Given the description of an element on the screen output the (x, y) to click on. 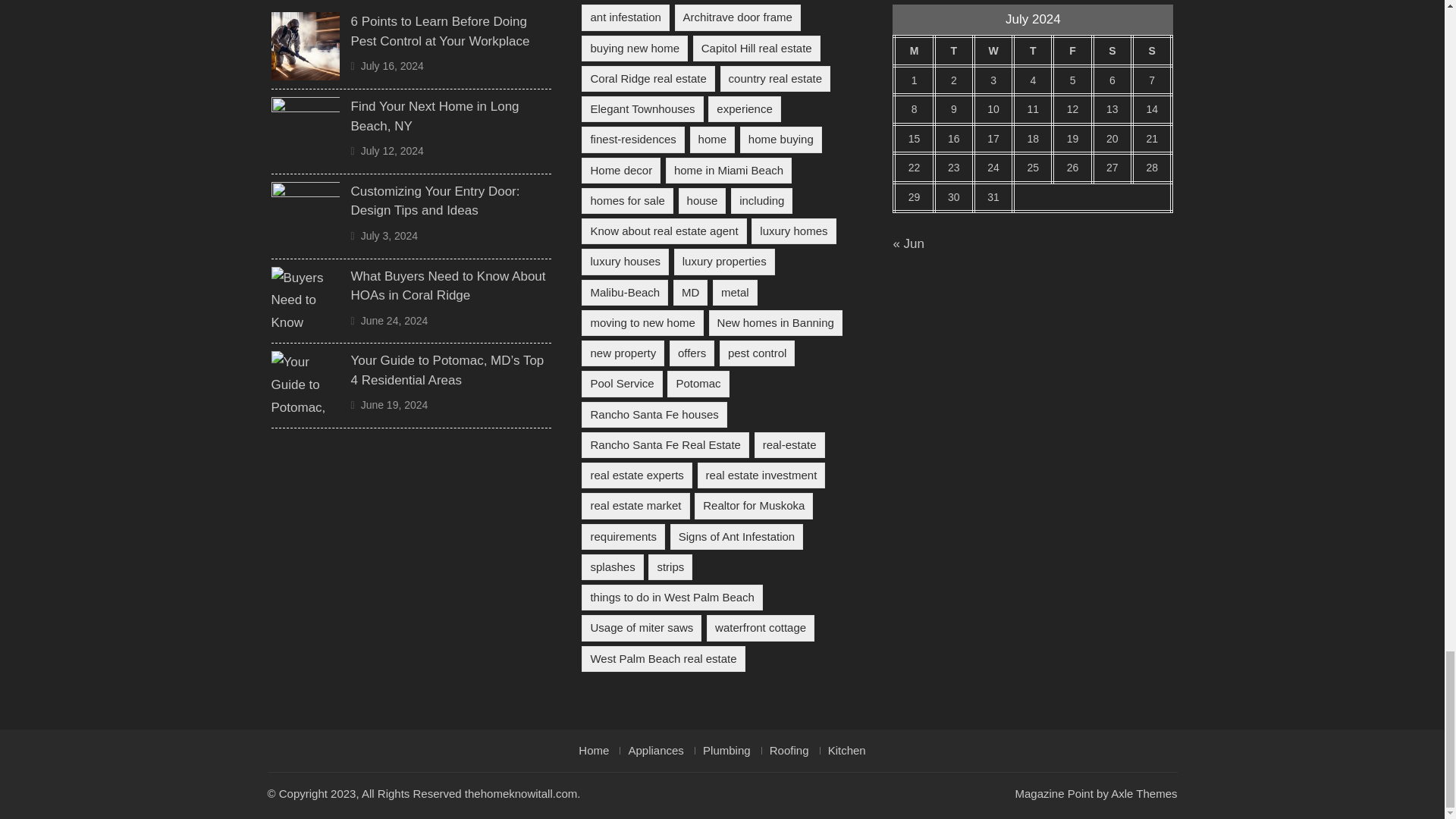
Saturday (1112, 51)
Monday (913, 51)
Wednesday (993, 51)
Thursday (1032, 51)
Friday (1072, 51)
Sunday (1152, 51)
Tuesday (954, 51)
